Given the description of an element on the screen output the (x, y) to click on. 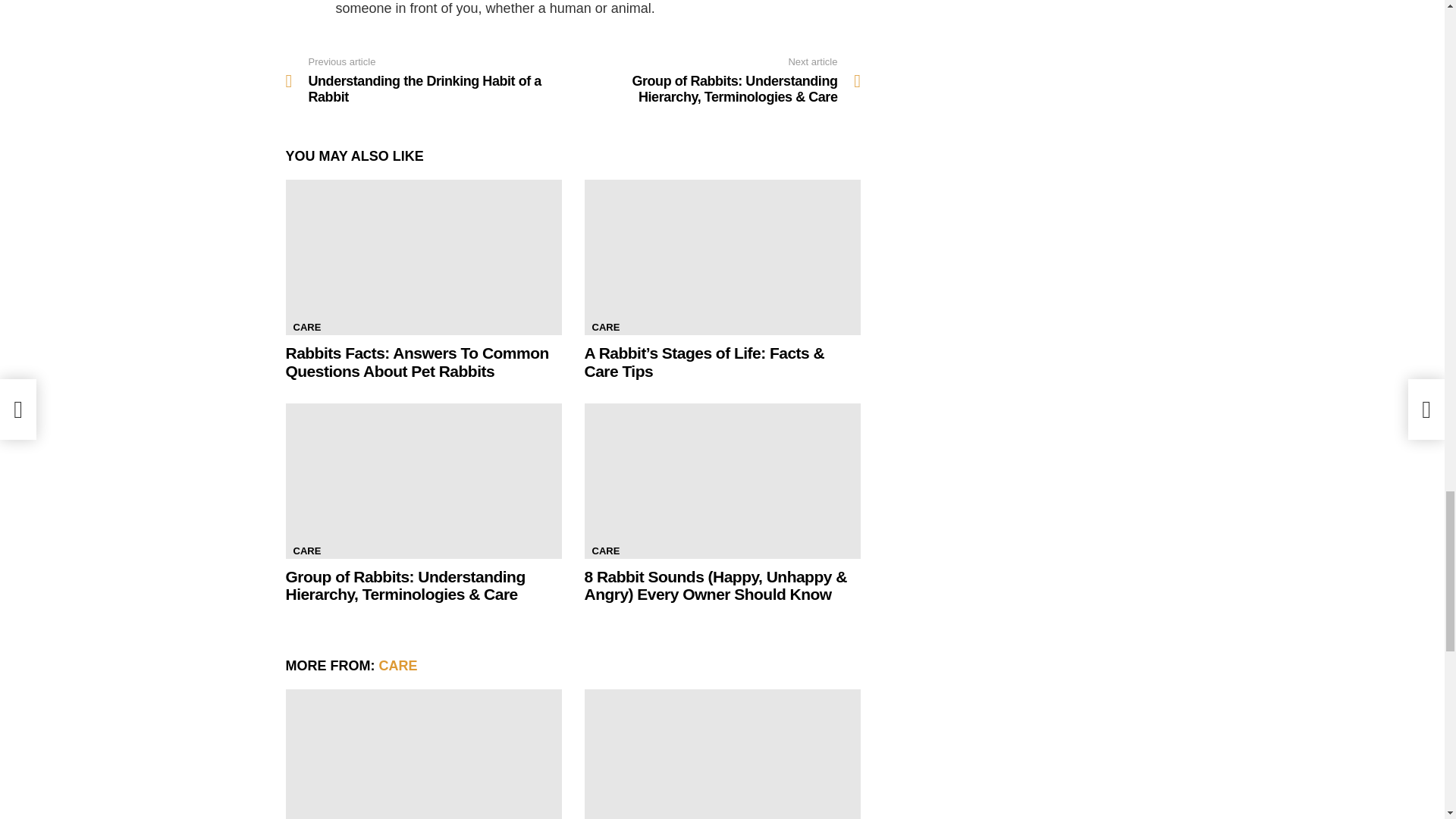
The Ideal Diet for Your Rabbit: What You Need to Know (721, 754)
CARE (307, 550)
Rabbits Facts: Answers To Common Questions About Pet Rabbits (416, 361)
Rabbits Facts: Answers To Common Questions About Pet Rabbits (422, 256)
CARE (605, 327)
CARE (605, 550)
CARE (307, 327)
The Ultimate Guide to Taking Care of Rabbits (422, 754)
